Given the description of an element on the screen output the (x, y) to click on. 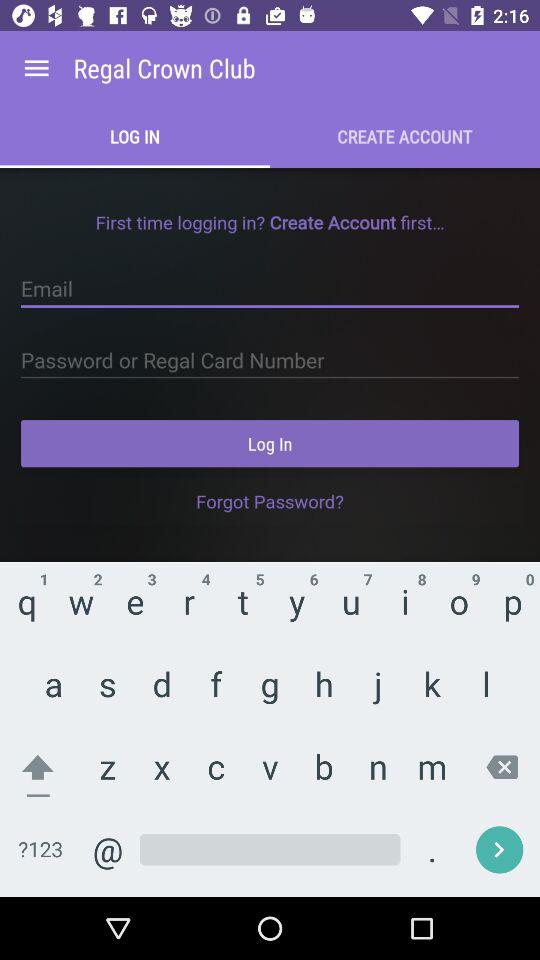
back to home (36, 68)
